Given the description of an element on the screen output the (x, y) to click on. 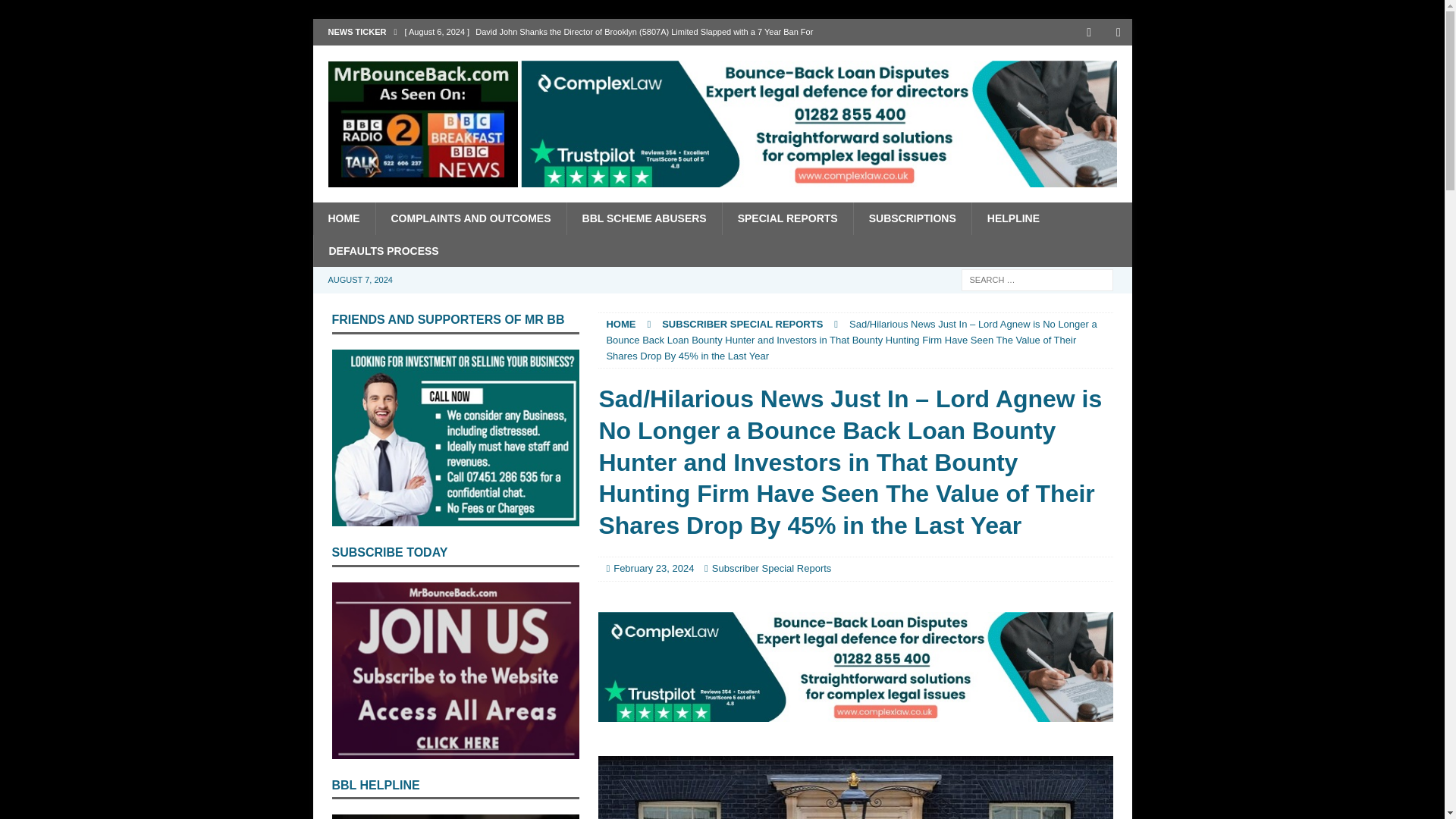
SUBSCRIPTIONS (912, 218)
SUBSCRIBER SPECIAL REPORTS (742, 324)
COMPLAINTS AND OUTCOMES (470, 218)
February 23, 2024 (653, 568)
HOME (343, 218)
BBL SCHEME ABUSERS (644, 218)
HOME (619, 324)
SPECIAL REPORTS (787, 218)
DEFAULTS PROCESS (382, 250)
Search (56, 11)
Subscriber Special Reports (771, 568)
HELPLINE (1012, 218)
